Given the description of an element on the screen output the (x, y) to click on. 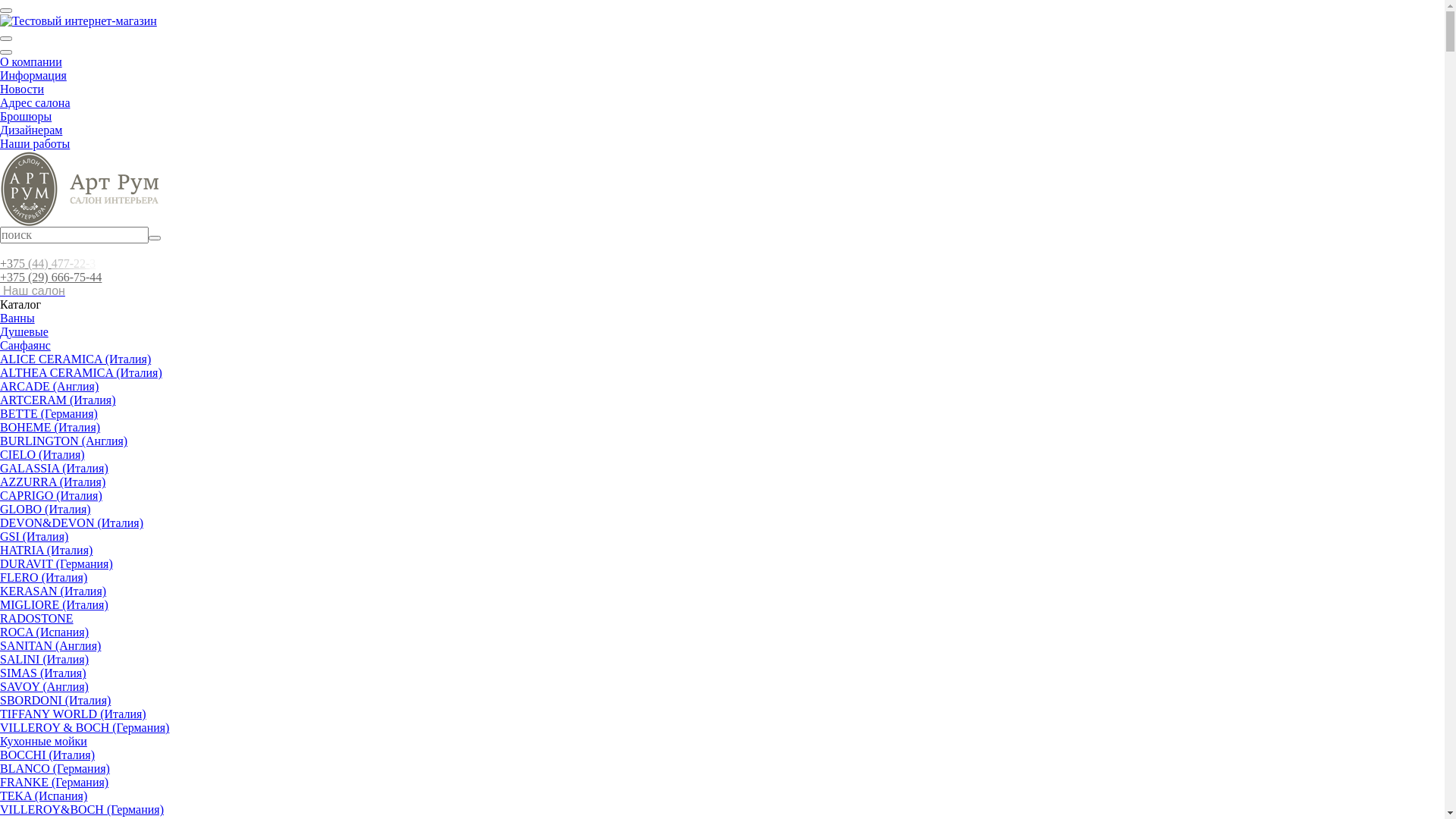
+375 (29) 666-75-44 Element type: text (50, 276)
+375 (44) 477-22-3 Element type: text (50, 263)
RADOSTONE Element type: text (36, 617)
